Given the description of an element on the screen output the (x, y) to click on. 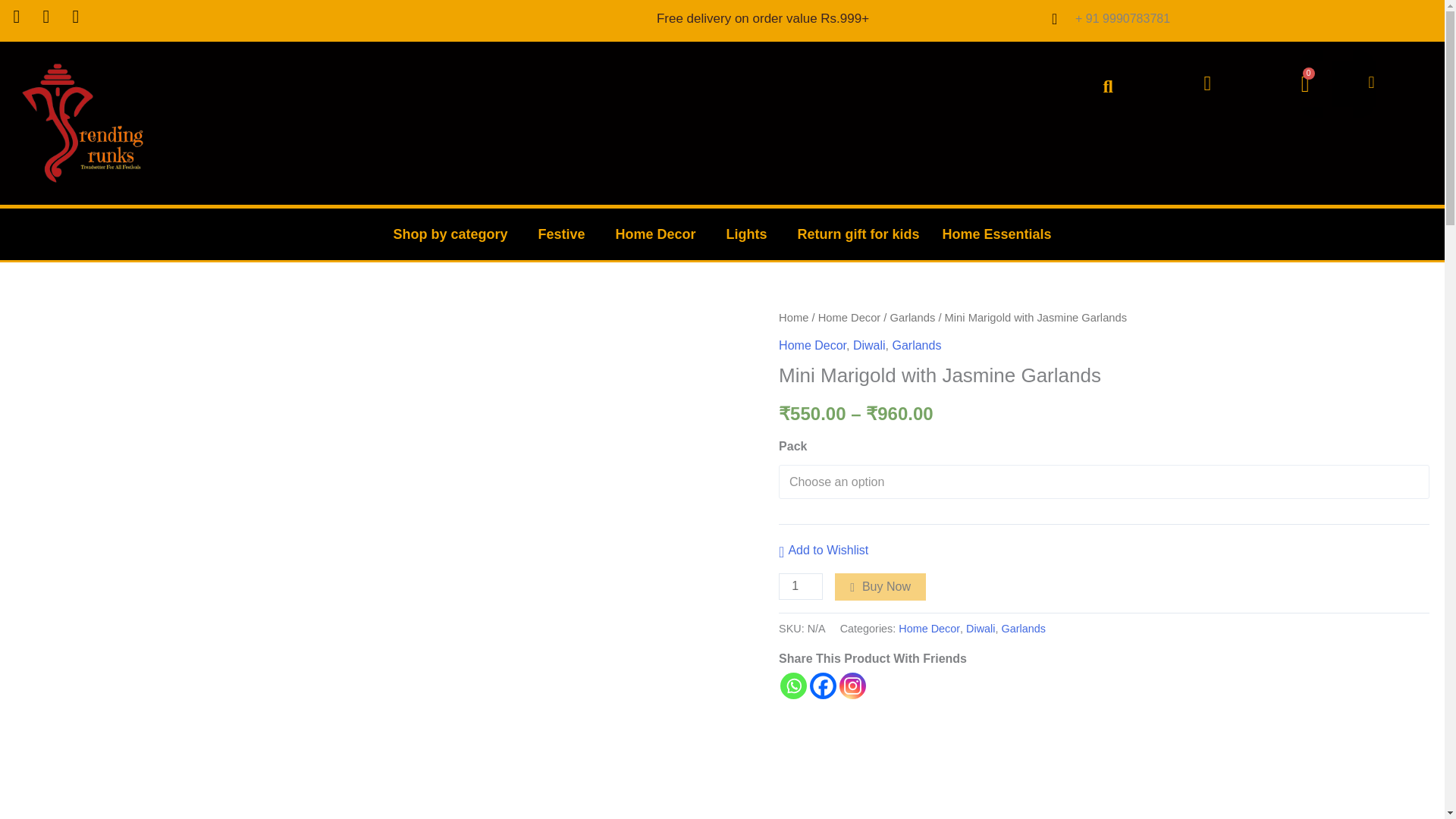
Instagram (853, 685)
Whatsapp (793, 685)
Shop by category (453, 234)
Festive (564, 234)
Facebook (822, 685)
Lights (750, 234)
Home Decor (659, 234)
1 (800, 586)
